Given the description of an element on the screen output the (x, y) to click on. 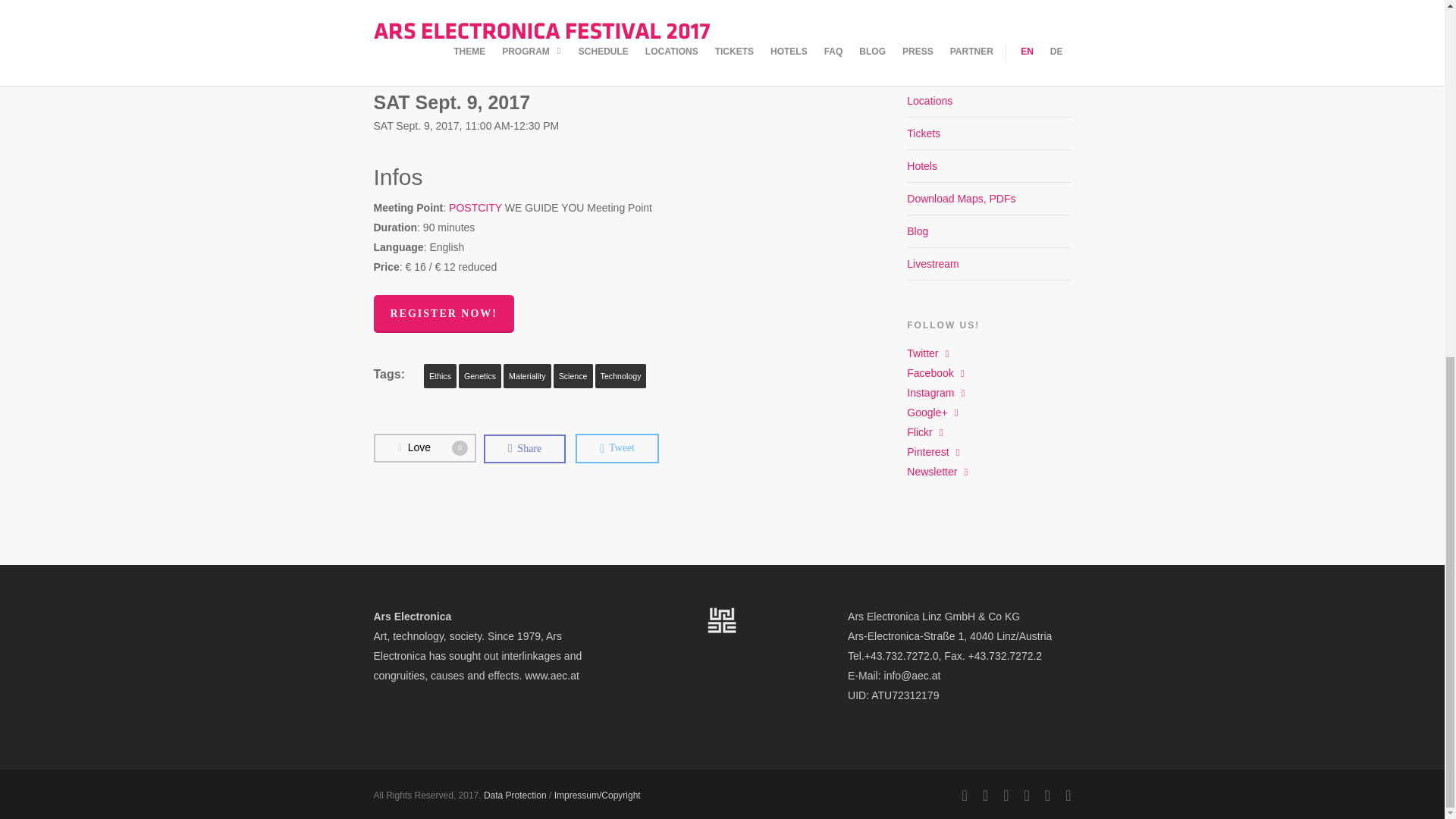
Love this (424, 448)
Tweet this (617, 448)
Share this (524, 448)
